Given the description of an element on the screen output the (x, y) to click on. 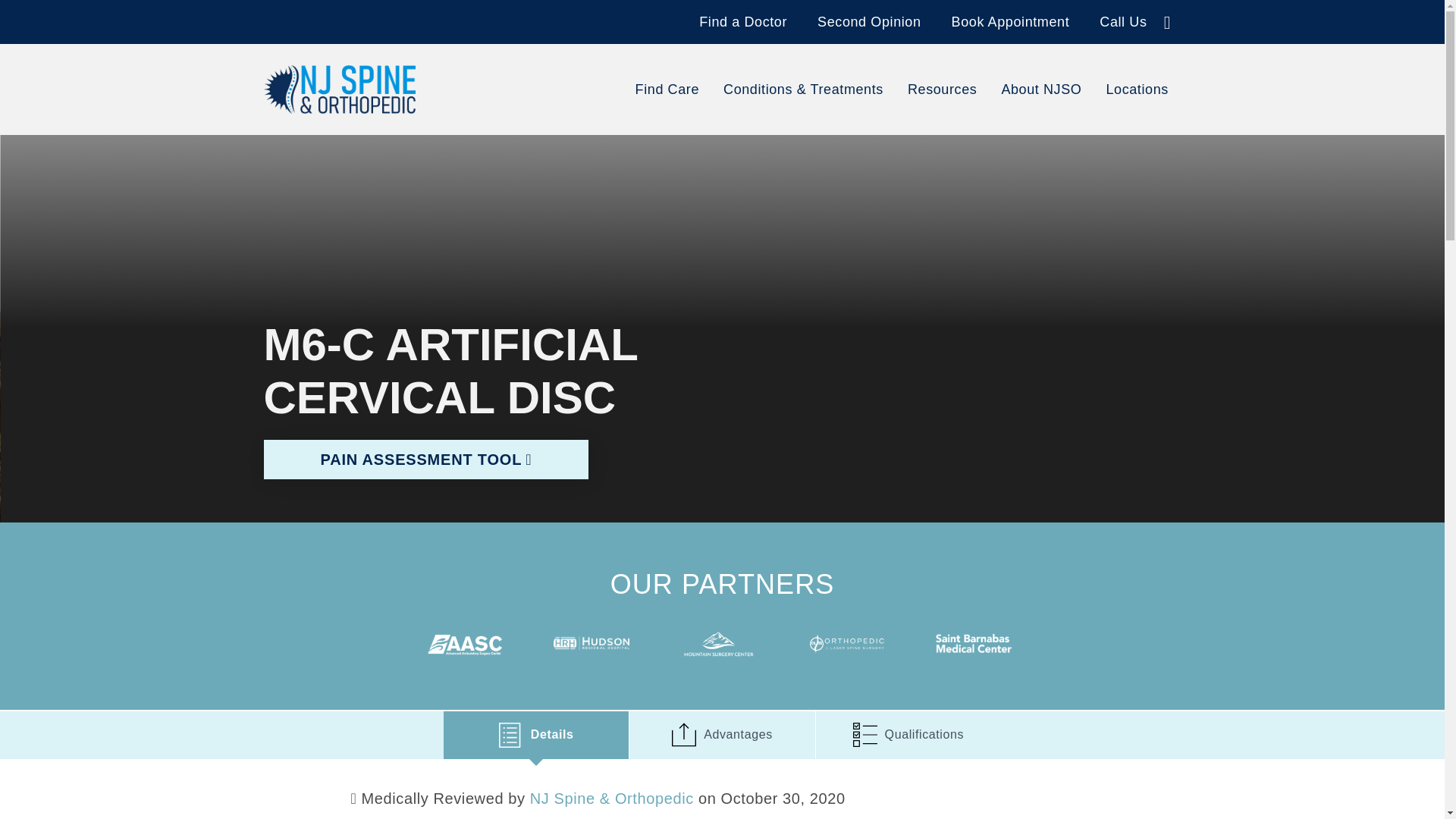
Find Care (667, 88)
Call Us (1123, 21)
About NJSO (1040, 88)
Locations (1136, 88)
Book Appointment (1011, 21)
Second Opinion (868, 21)
Resources (941, 88)
Find a Doctor (742, 21)
